Given the description of an element on the screen output the (x, y) to click on. 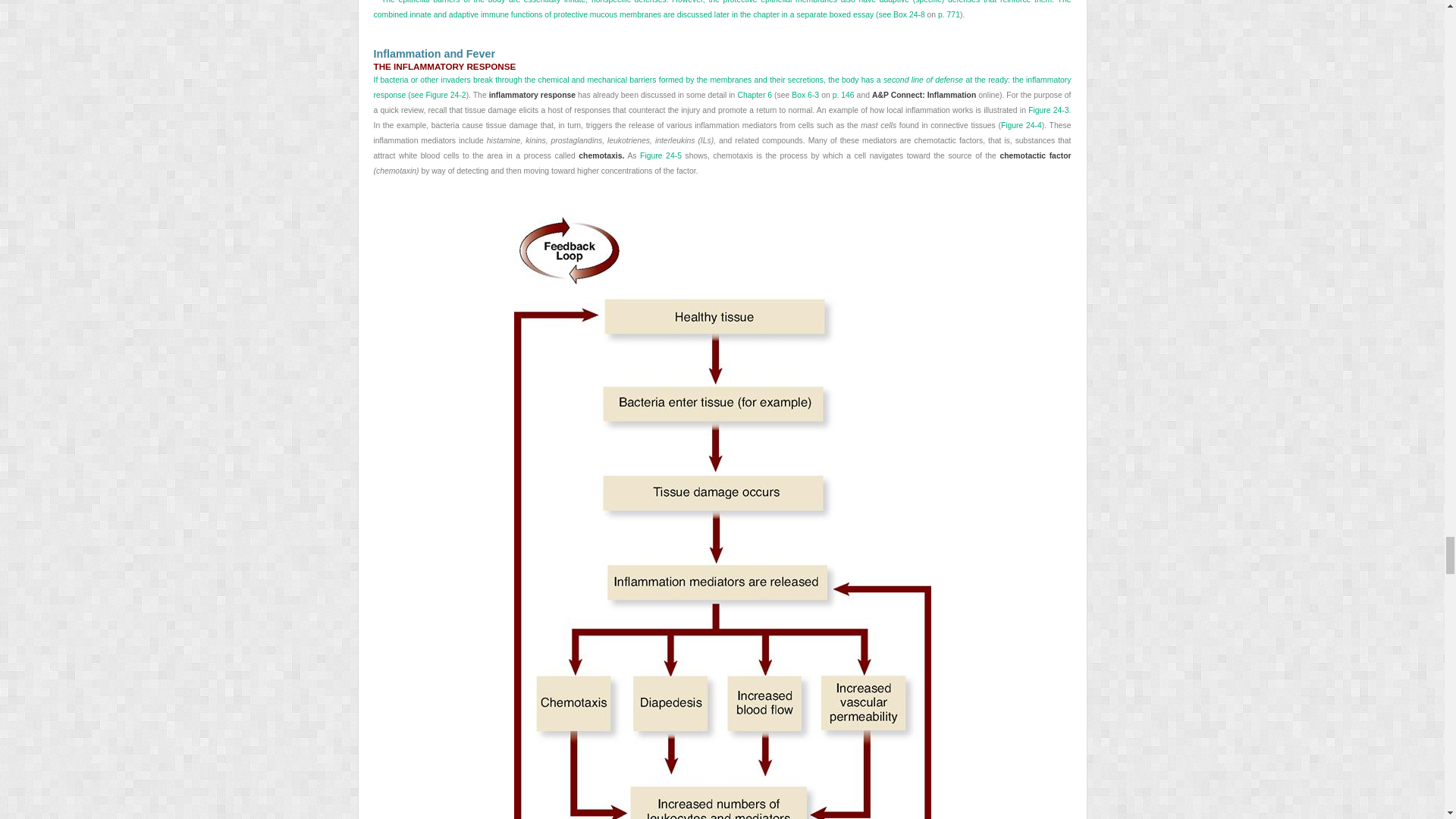
750 (721, 140)
